Given the description of an element on the screen output the (x, y) to click on. 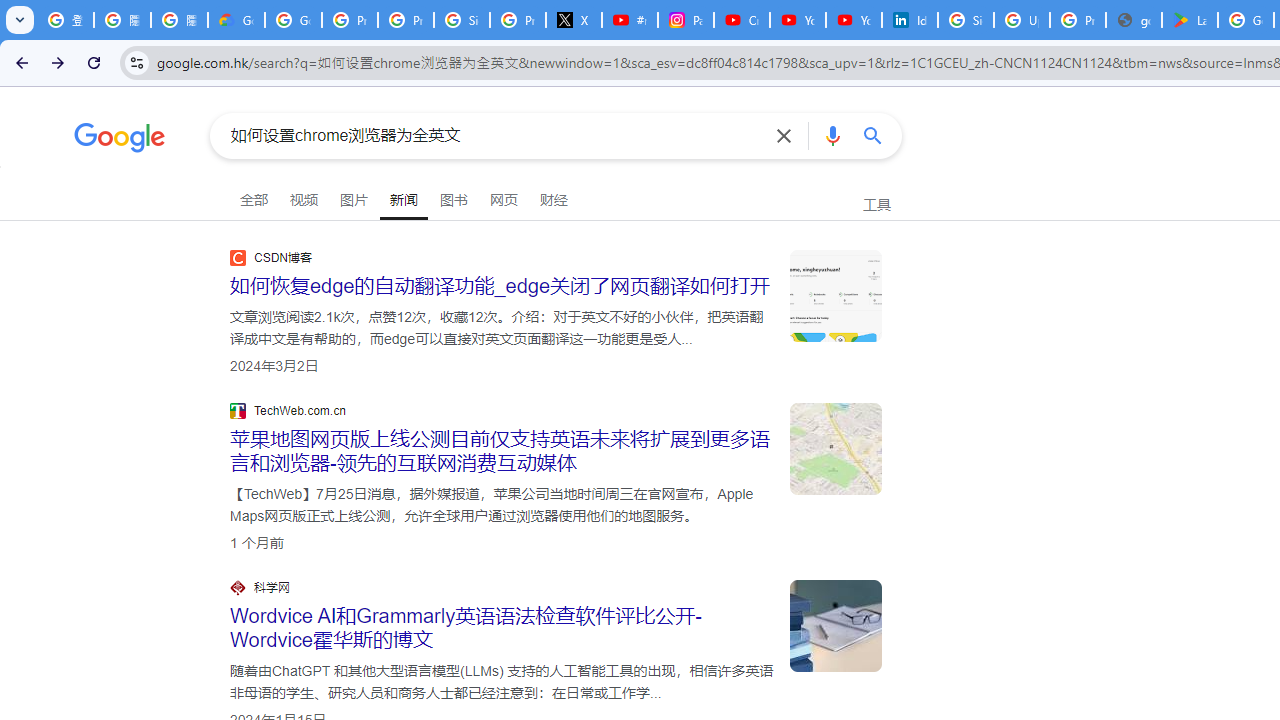
Google Cloud Privacy Notice (235, 20)
Last Shelter: Survival - Apps on Google Play (1190, 20)
Privacy Help Center - Policies Help (405, 20)
YouTube Culture & Trends - YouTube Top 10, 2021 (853, 20)
